Given the description of an element on the screen output the (x, y) to click on. 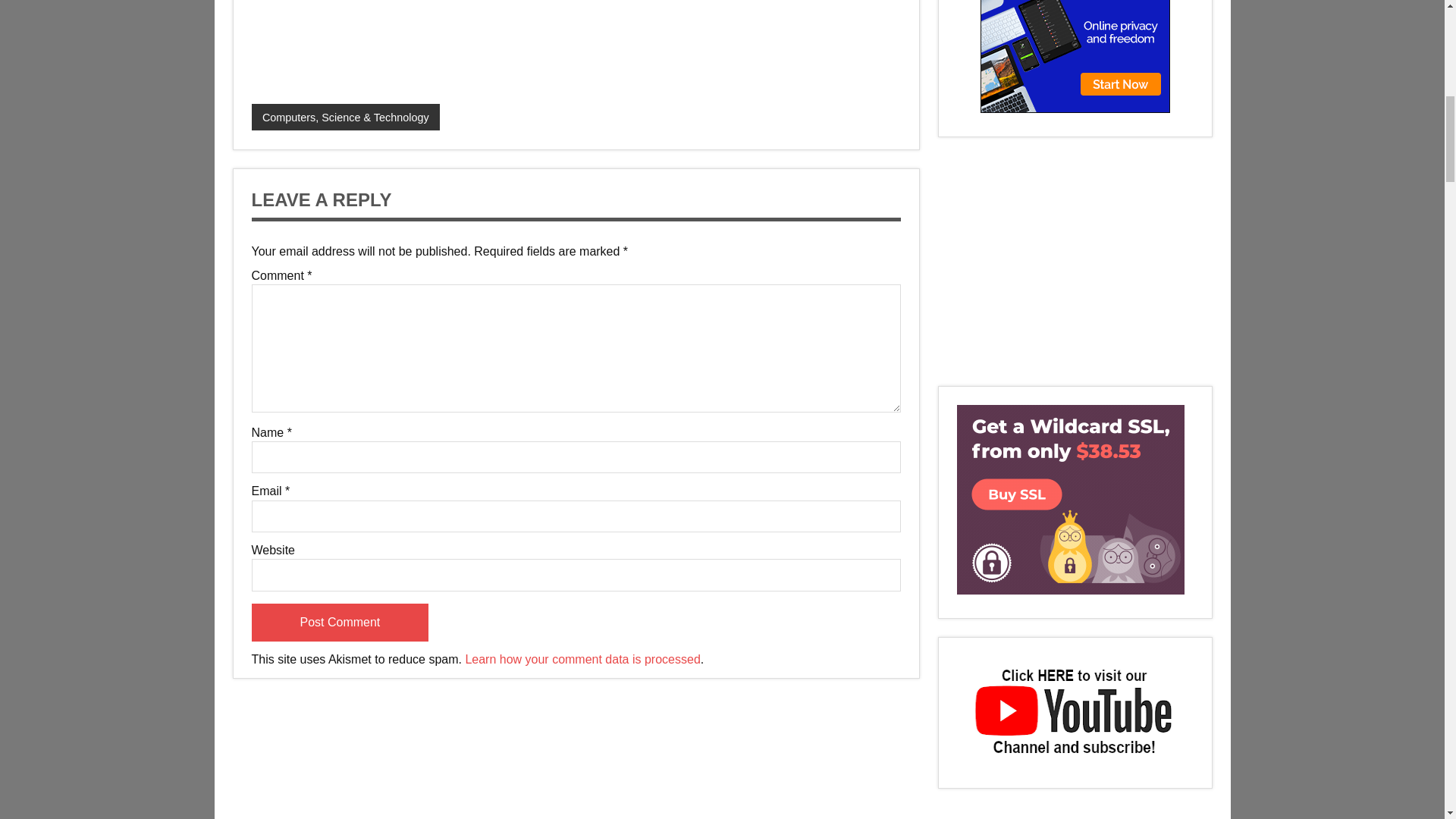
Advertisement (1074, 812)
Advertisement (1074, 261)
Post Comment (340, 622)
Learn how your comment data is processed (582, 658)
Advertisement (346, 45)
Post Comment (340, 622)
